Given the description of an element on the screen output the (x, y) to click on. 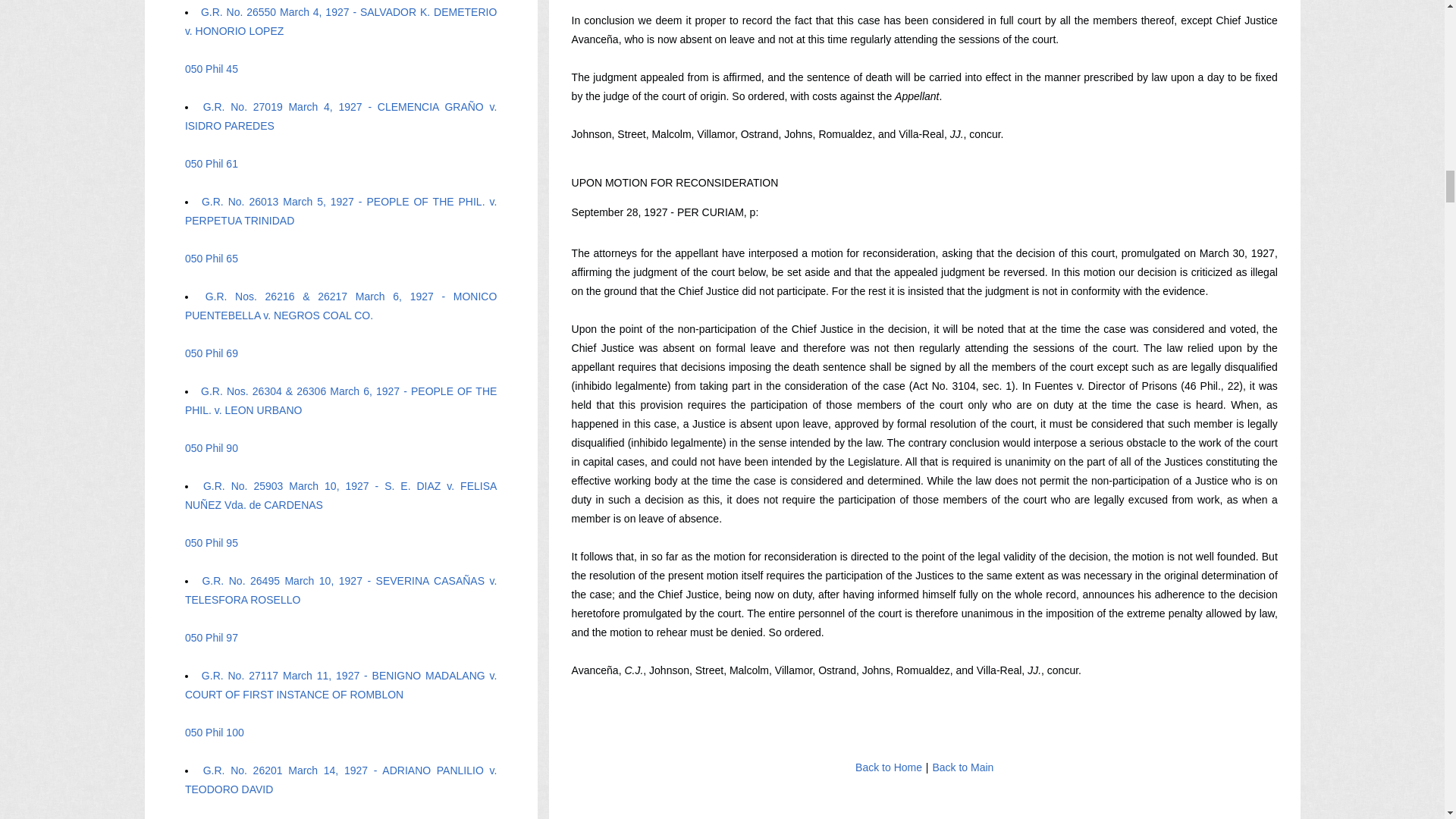
Back to Home (888, 767)
Back to Main (962, 767)
